Given the description of an element on the screen output the (x, y) to click on. 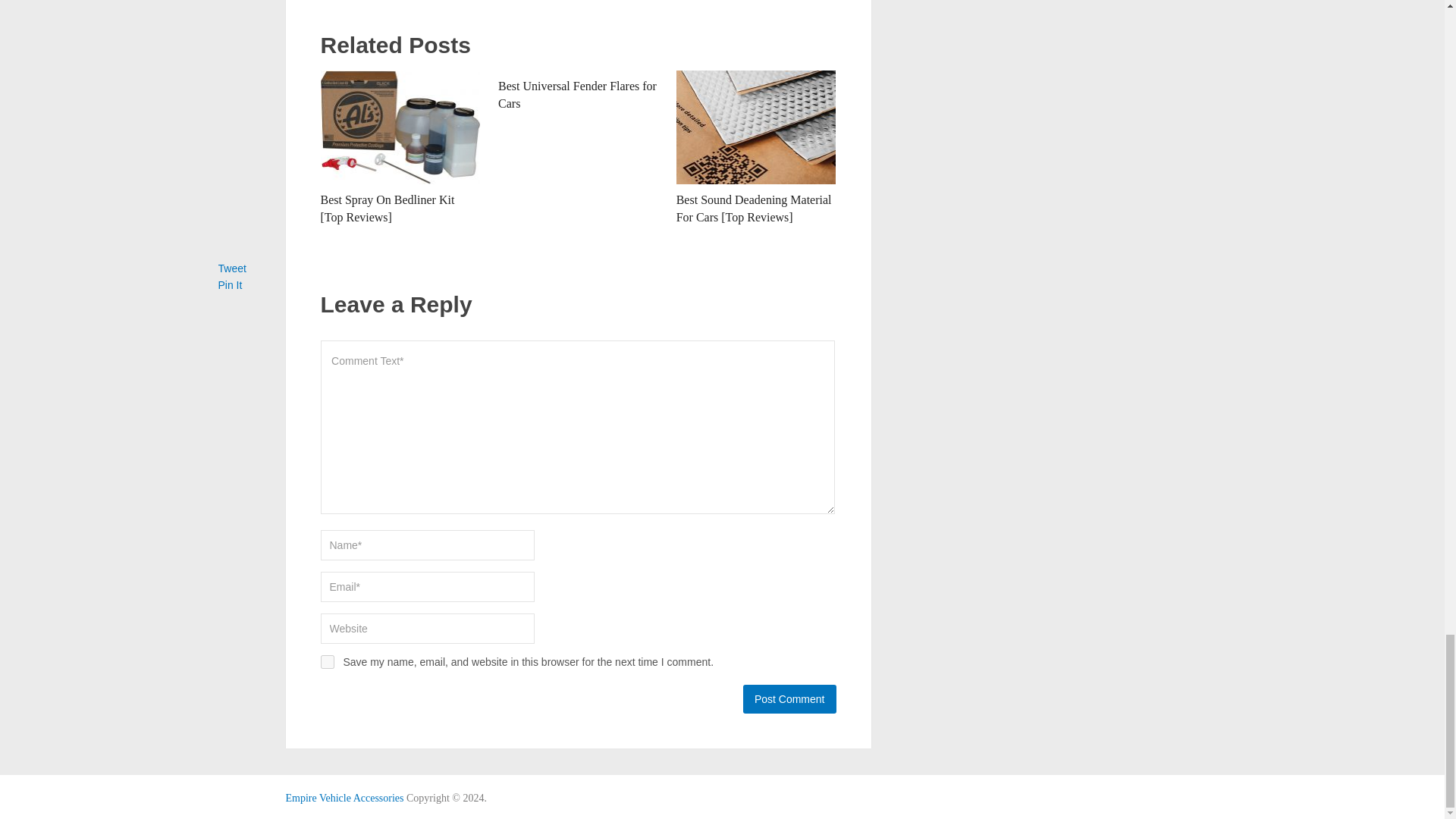
Best Universal Fender Flares for Cars (576, 93)
 Latest Auto Accessory Reviews (344, 797)
Best Universal Fender Flares for Cars (576, 93)
yes (326, 662)
Post Comment (788, 698)
Post Comment (788, 698)
